Given the description of an element on the screen output the (x, y) to click on. 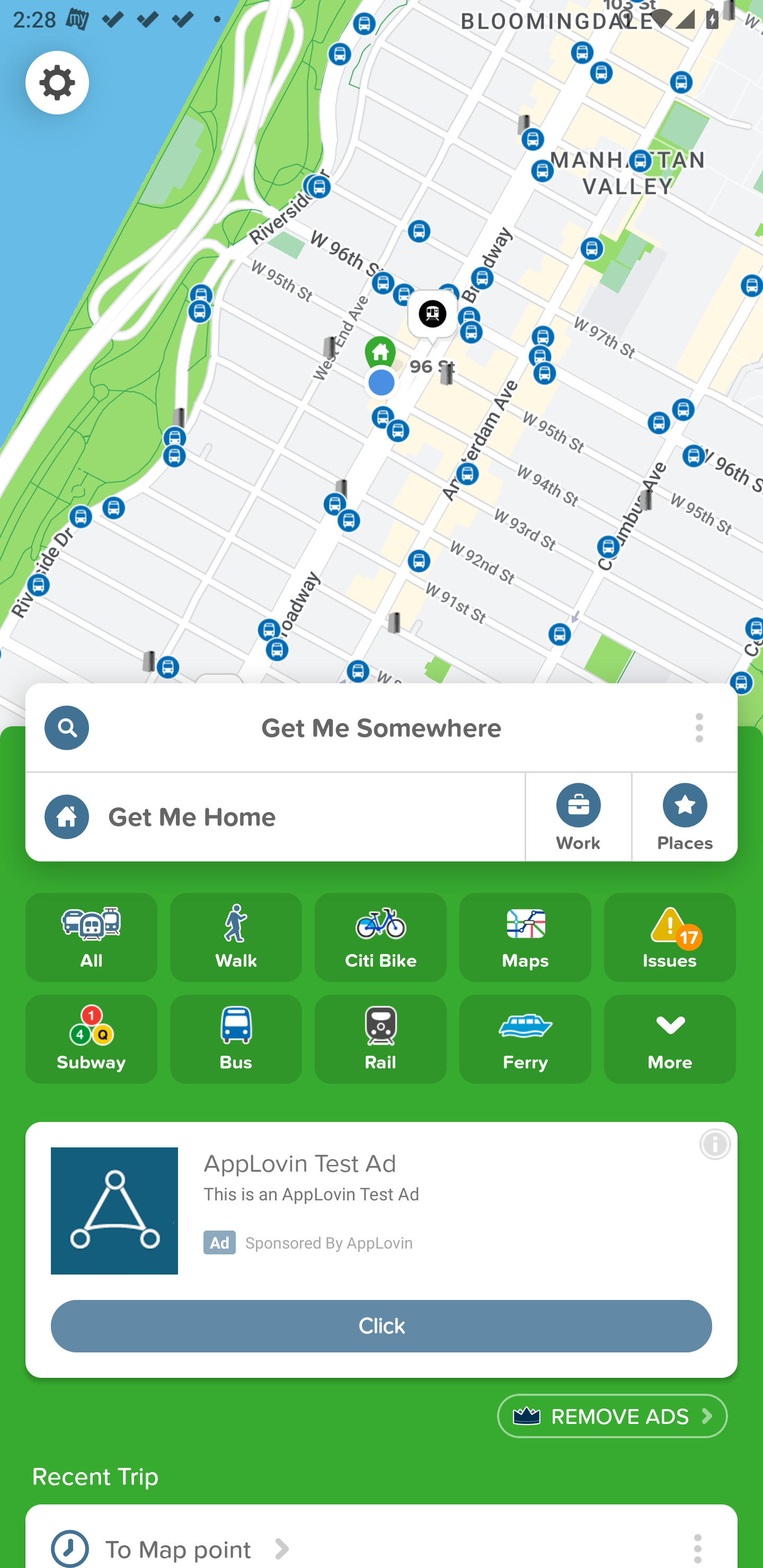
Issues 17 (670, 937)
